Given the description of an element on the screen output the (x, y) to click on. 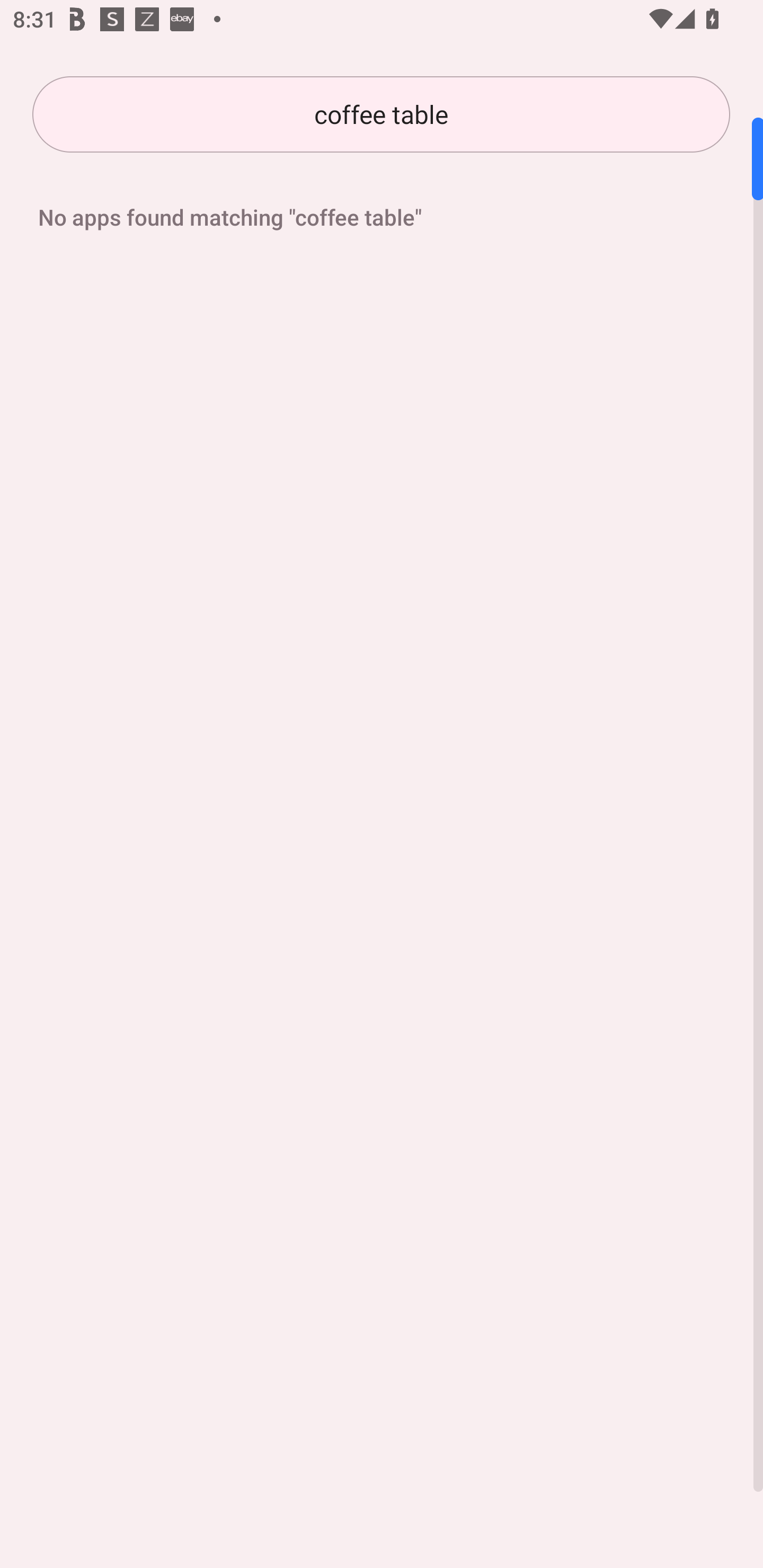
coffee table (381, 114)
